Given the description of an element on the screen output the (x, y) to click on. 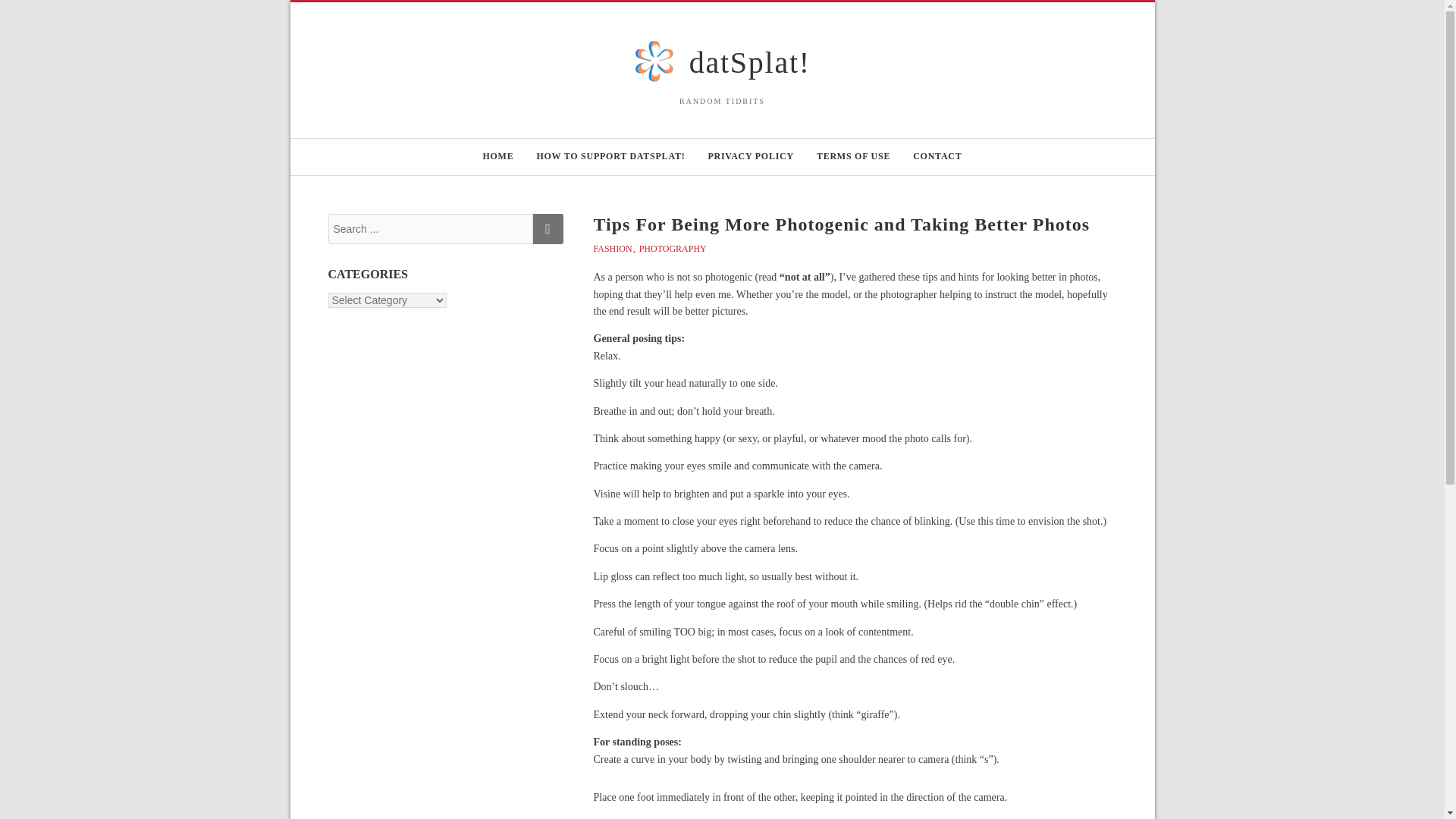
CONTACT (936, 156)
HOME (497, 156)
FASHION (615, 248)
HOW TO SUPPORT DATSPLAT! (609, 156)
PHOTOGRAPHY (672, 248)
datSplat! (749, 62)
TERMS OF USE (853, 156)
PRIVACY POLICY (750, 156)
